Given the description of an element on the screen output the (x, y) to click on. 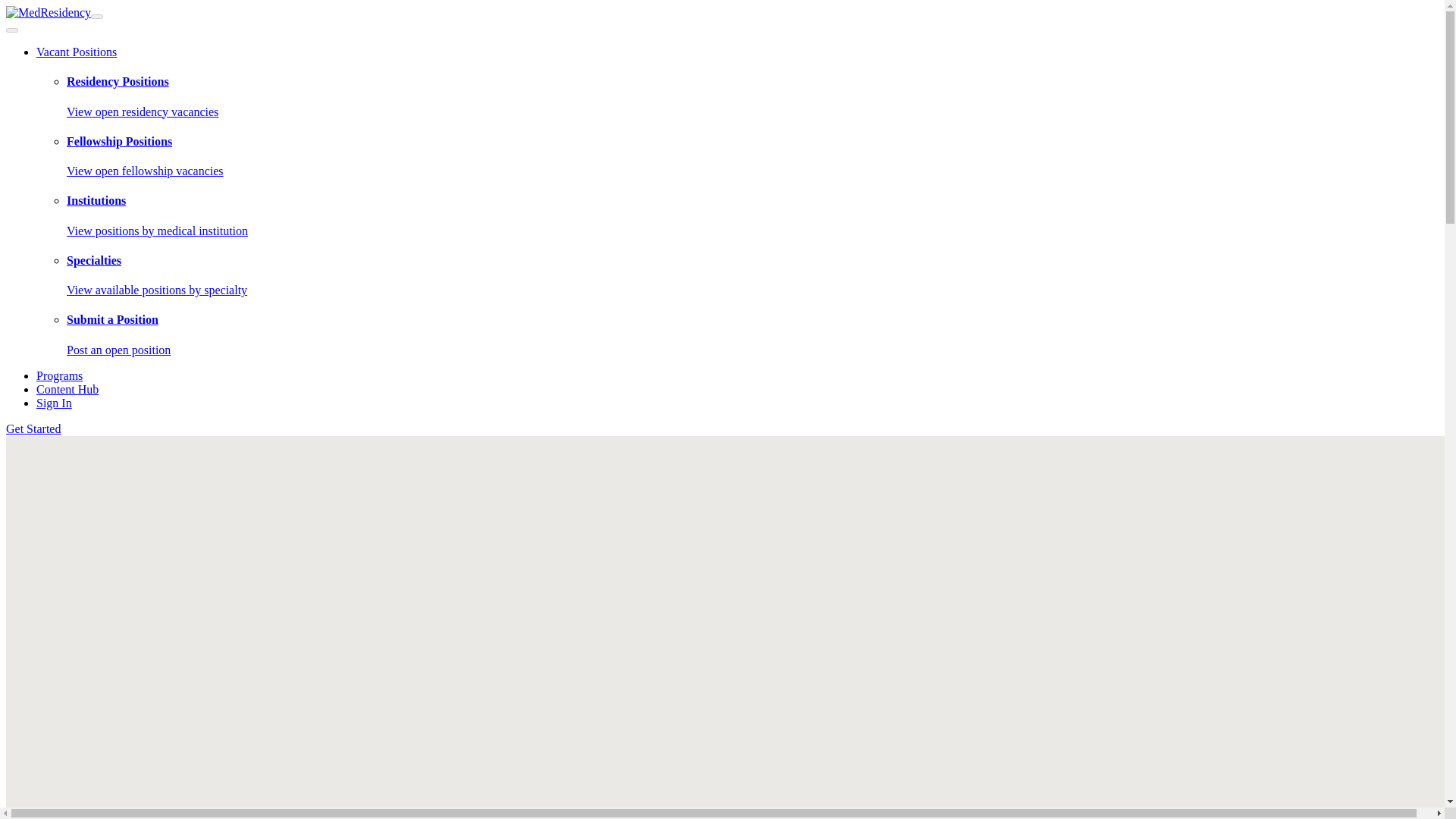
Content Hub (67, 389)
Get Started (33, 428)
Programs (752, 275)
Sign In (59, 375)
Vacant Positions (53, 402)
